Given the description of an element on the screen output the (x, y) to click on. 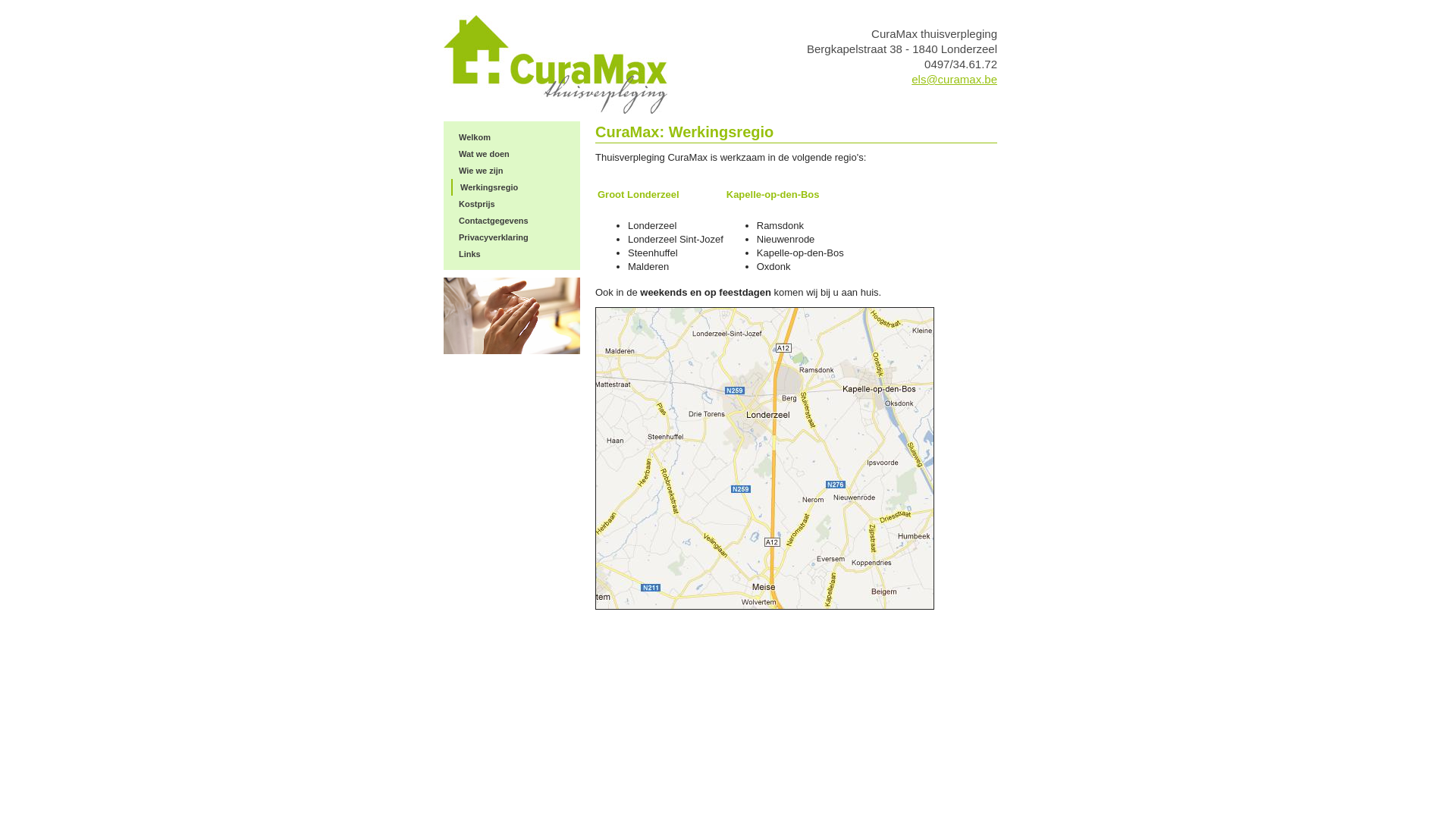
Links Element type: text (511, 253)
Kostprijs Element type: text (511, 203)
Privacyverklaring Element type: text (511, 237)
Werkingsregio Element type: text (512, 186)
curamax Element type: hover (555, 64)
els@curamax.be Element type: text (954, 78)
Welkom Element type: text (511, 136)
Contactgegevens Element type: text (511, 220)
regio Element type: hover (764, 458)
Wie we zijn Element type: text (511, 170)
Wat we doen Element type: text (511, 153)
